Given the description of an element on the screen output the (x, y) to click on. 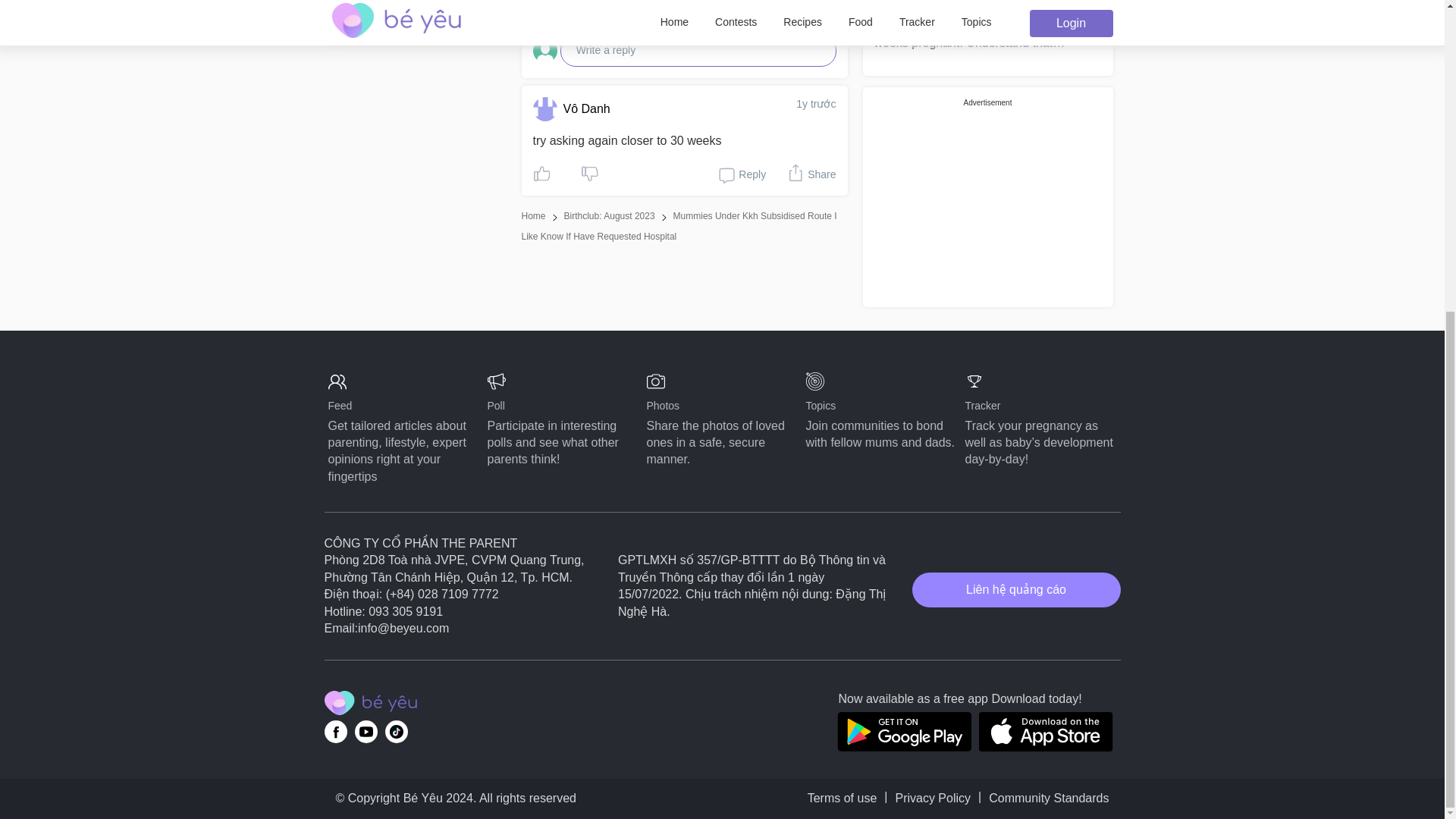
Home (533, 215)
